Given the description of an element on the screen output the (x, y) to click on. 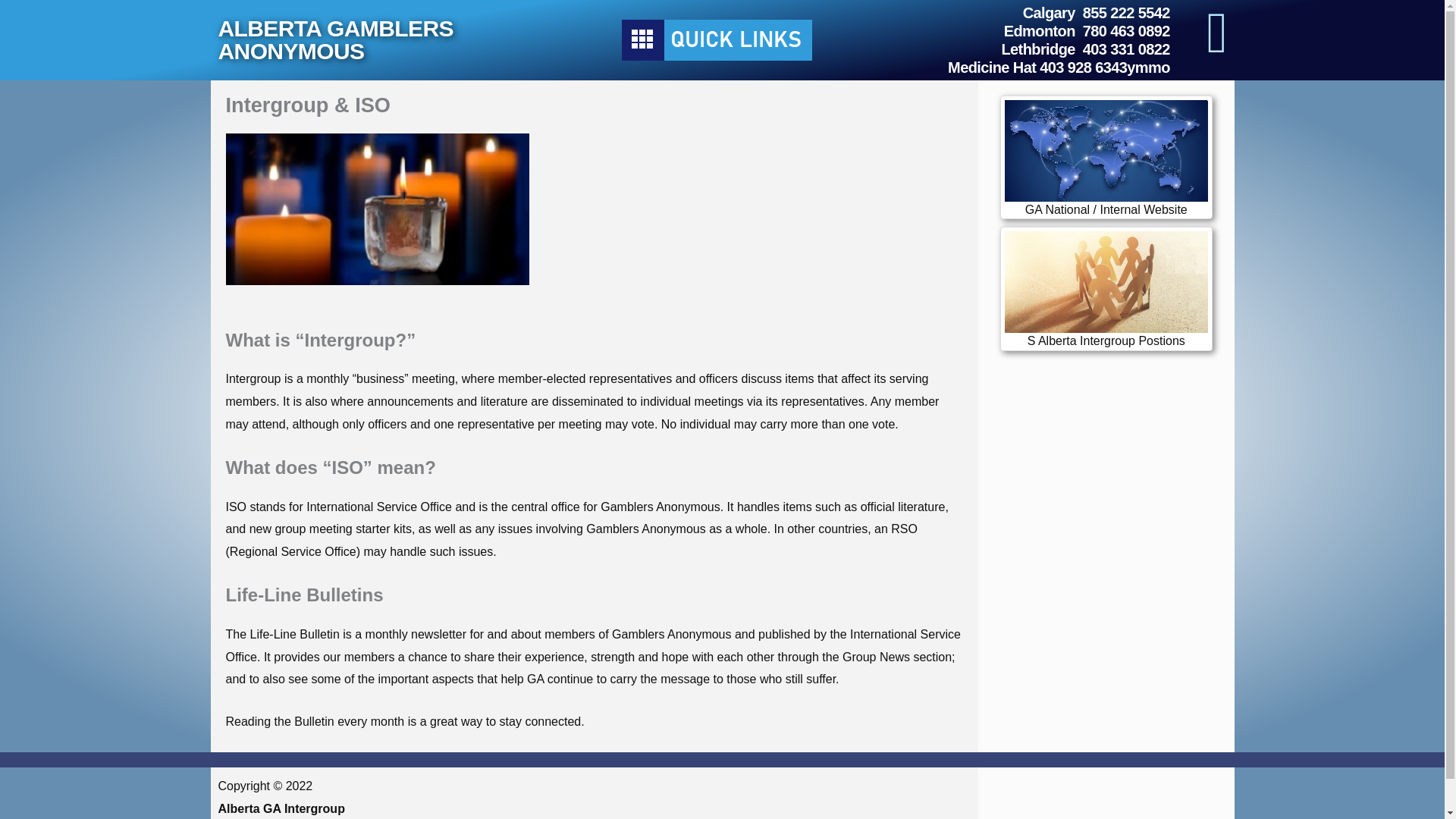
ALBERTA GAMBLERS ANONYMOUS (335, 39)
